Given the description of an element on the screen output the (x, y) to click on. 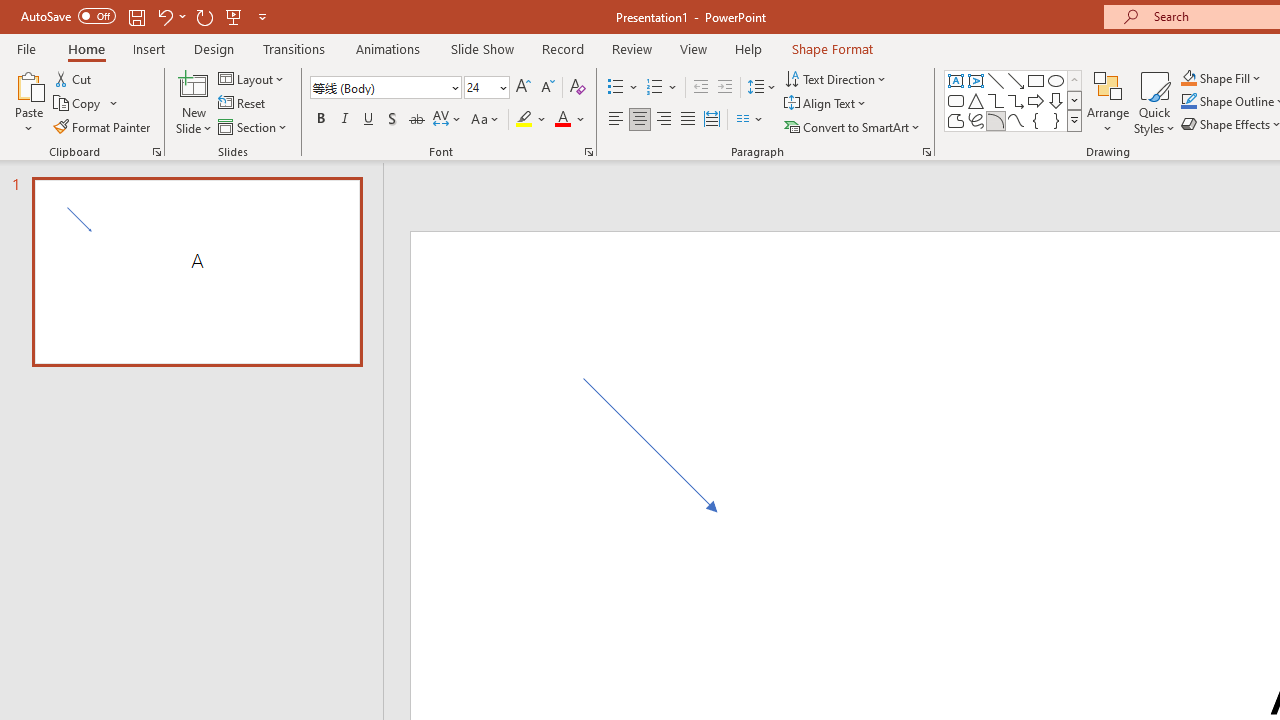
Shape Outline Blue, Accent 1 (1188, 101)
